Given the description of an element on the screen output the (x, y) to click on. 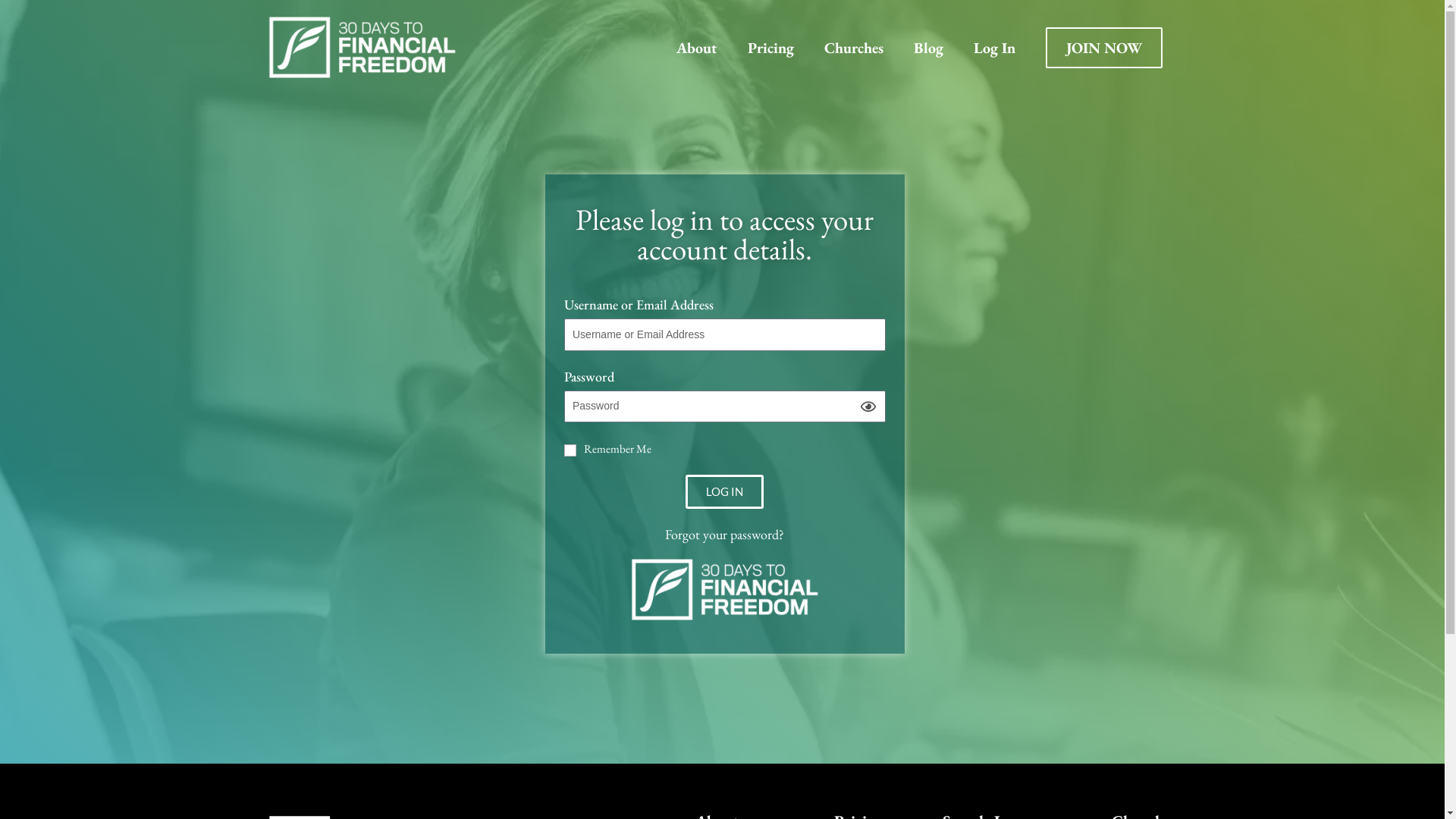
Pricing Element type: text (770, 46)
Log In Element type: text (994, 46)
Forgot your password? Element type: text (724, 534)
About Element type: text (696, 46)
JOIN NOW Element type: text (1102, 47)
LOG IN Element type: text (724, 491)
Churches Element type: text (852, 46)
Blog Element type: text (927, 46)
